Given the description of an element on the screen output the (x, y) to click on. 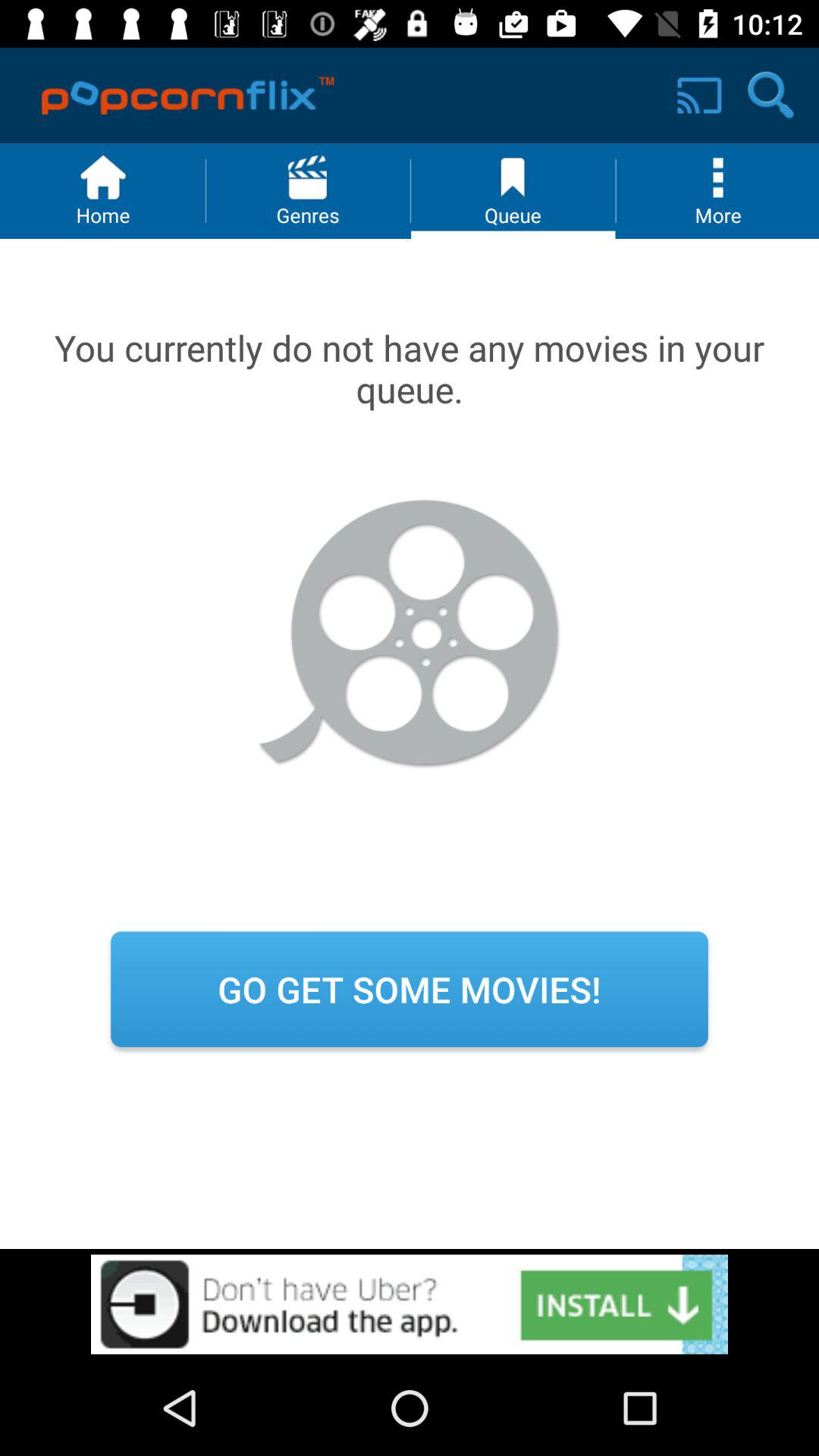
advertisement (409, 1304)
